Given the description of an element on the screen output the (x, y) to click on. 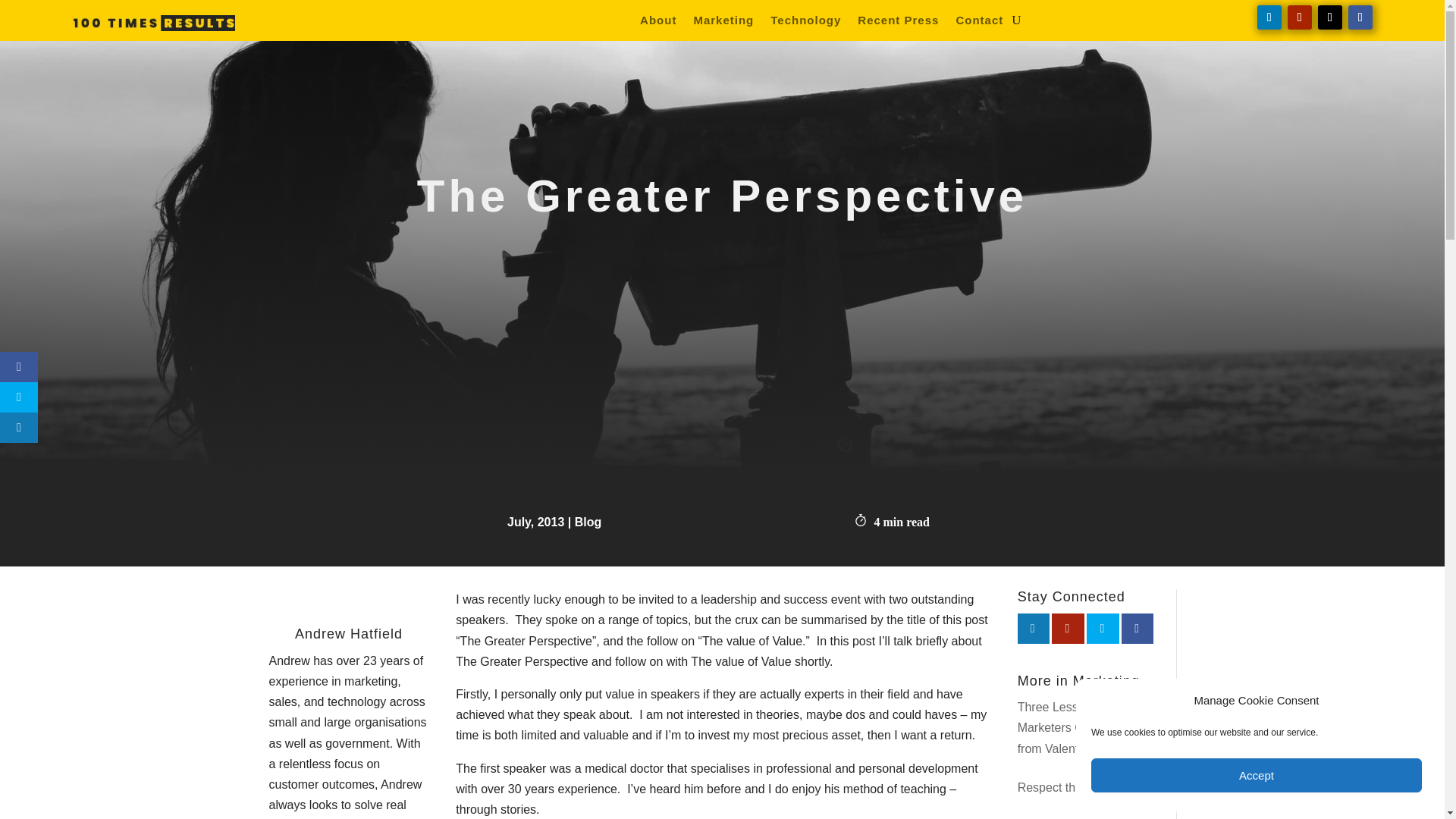
Recent Press (898, 23)
Follow on Facebook (1360, 16)
Follow on LinkedIn (1269, 16)
Follow on X (1329, 16)
Andrew Hatfield (349, 633)
Technology (805, 23)
Follow on Youtube (1299, 16)
Marketing (723, 23)
Accept (1256, 775)
Blog (588, 521)
About (658, 23)
Contact (979, 23)
